Given the description of an element on the screen output the (x, y) to click on. 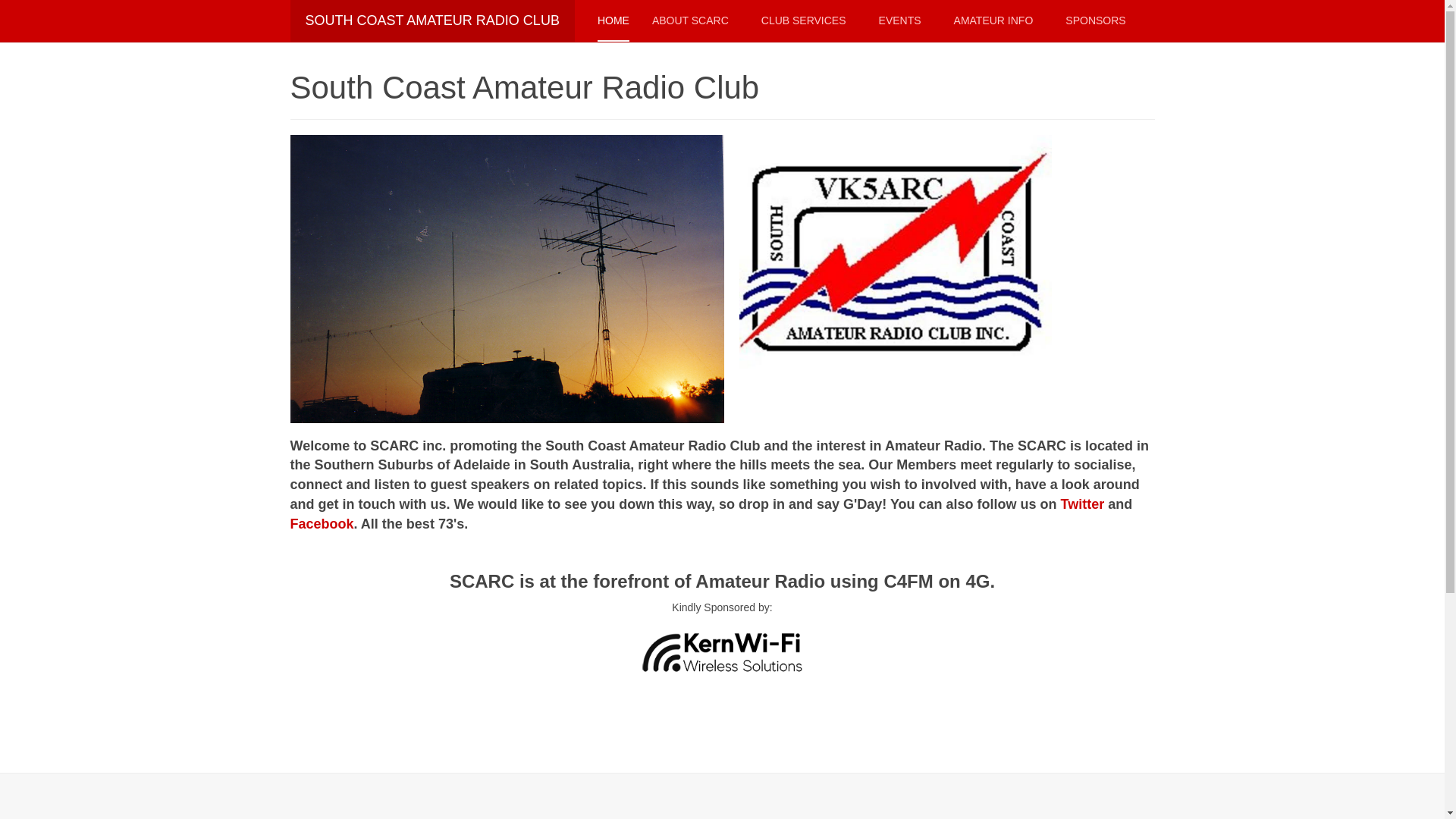
SOUTH COAST AMATEUR RADIO CLUB Element type: text (431, 20)
Facebook Element type: text (321, 523)
Twitter Element type: text (1082, 503)
HOME Element type: text (613, 20)
KernWifi Wireless Solutions Element type: hover (721, 651)
